Given the description of an element on the screen output the (x, y) to click on. 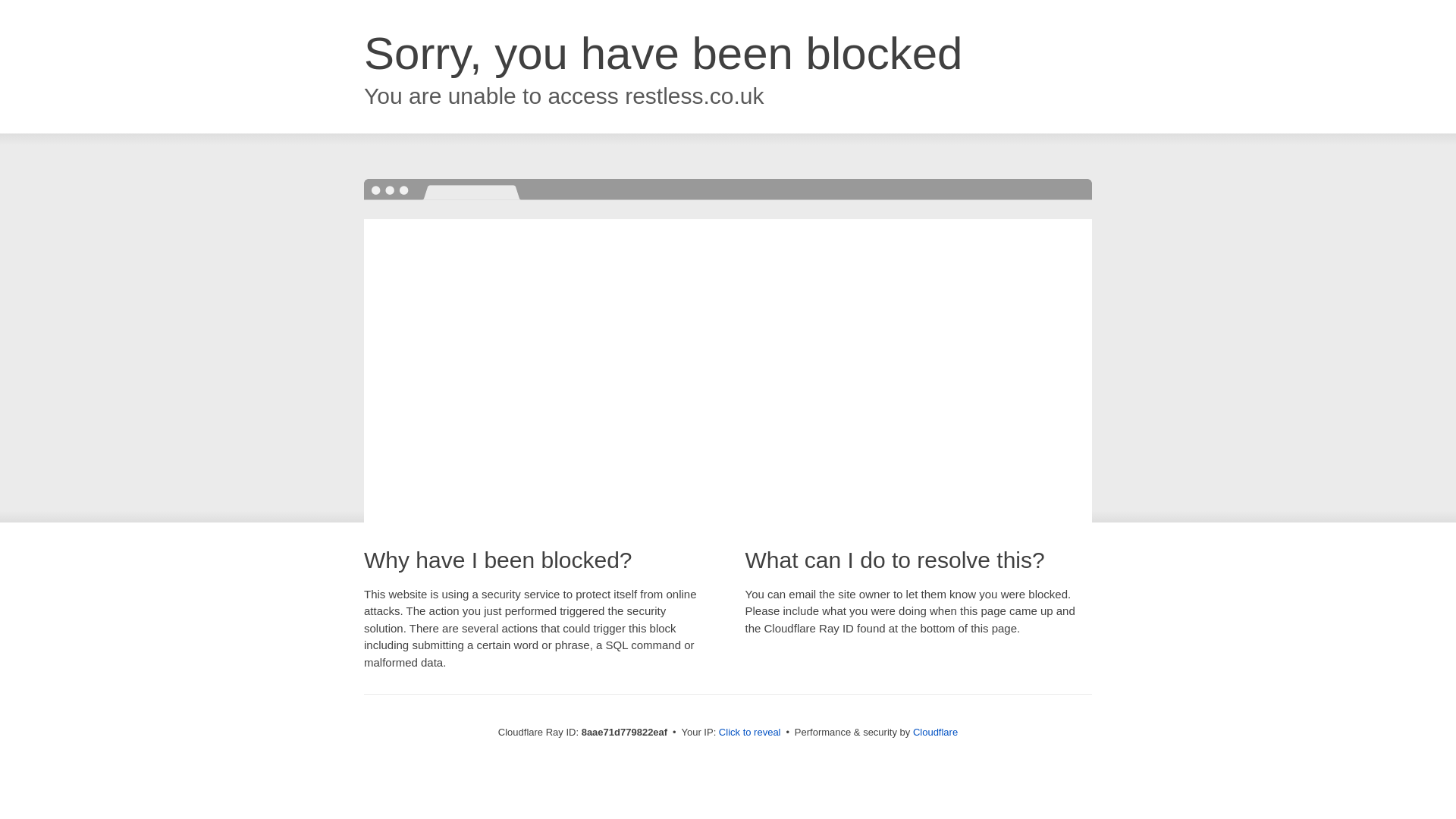
Cloudflare (935, 731)
Click to reveal (749, 732)
